Given the description of an element on the screen output the (x, y) to click on. 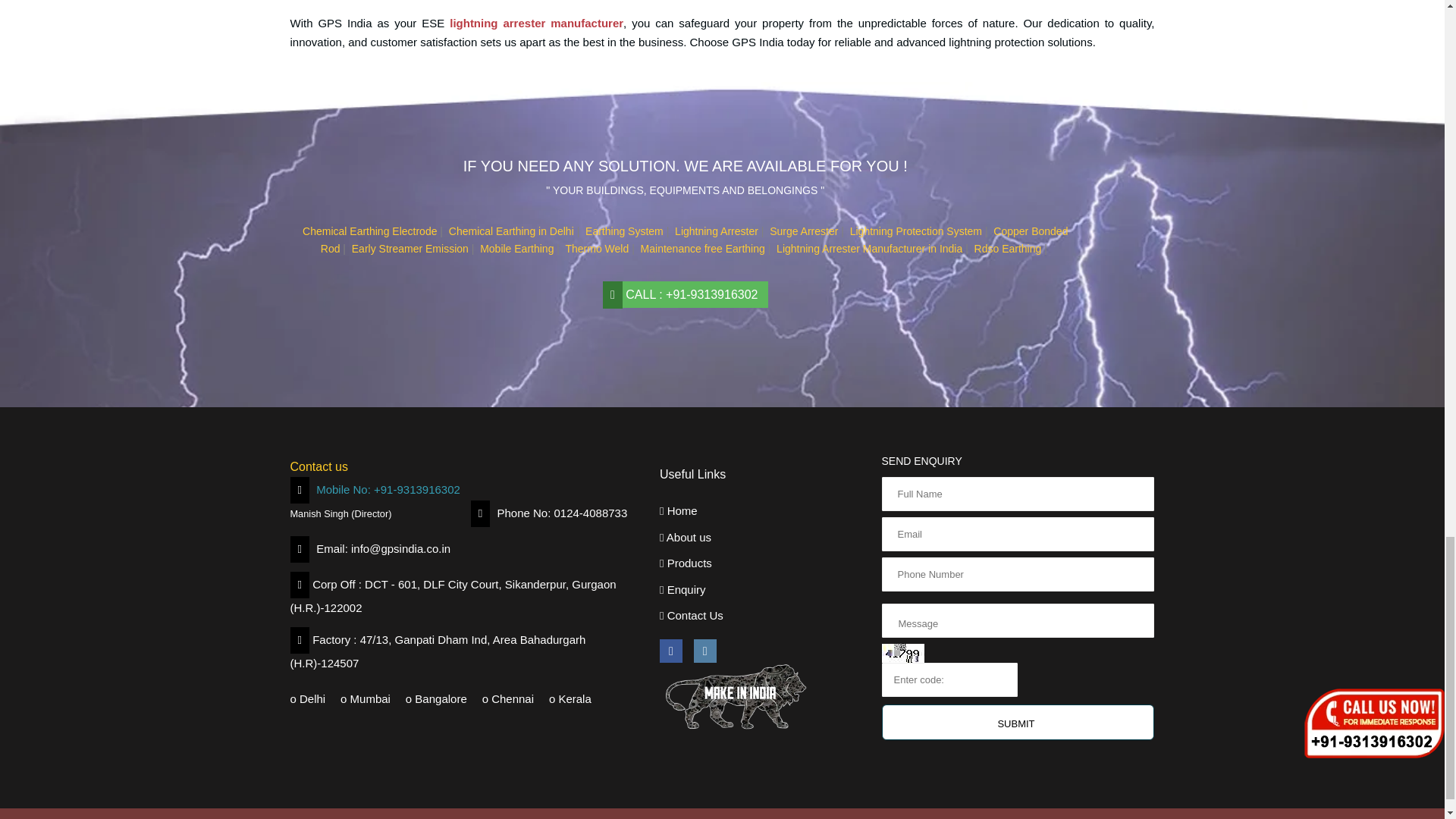
Submit (1017, 722)
Facebook (670, 650)
Instagram (705, 650)
